Given the description of an element on the screen output the (x, y) to click on. 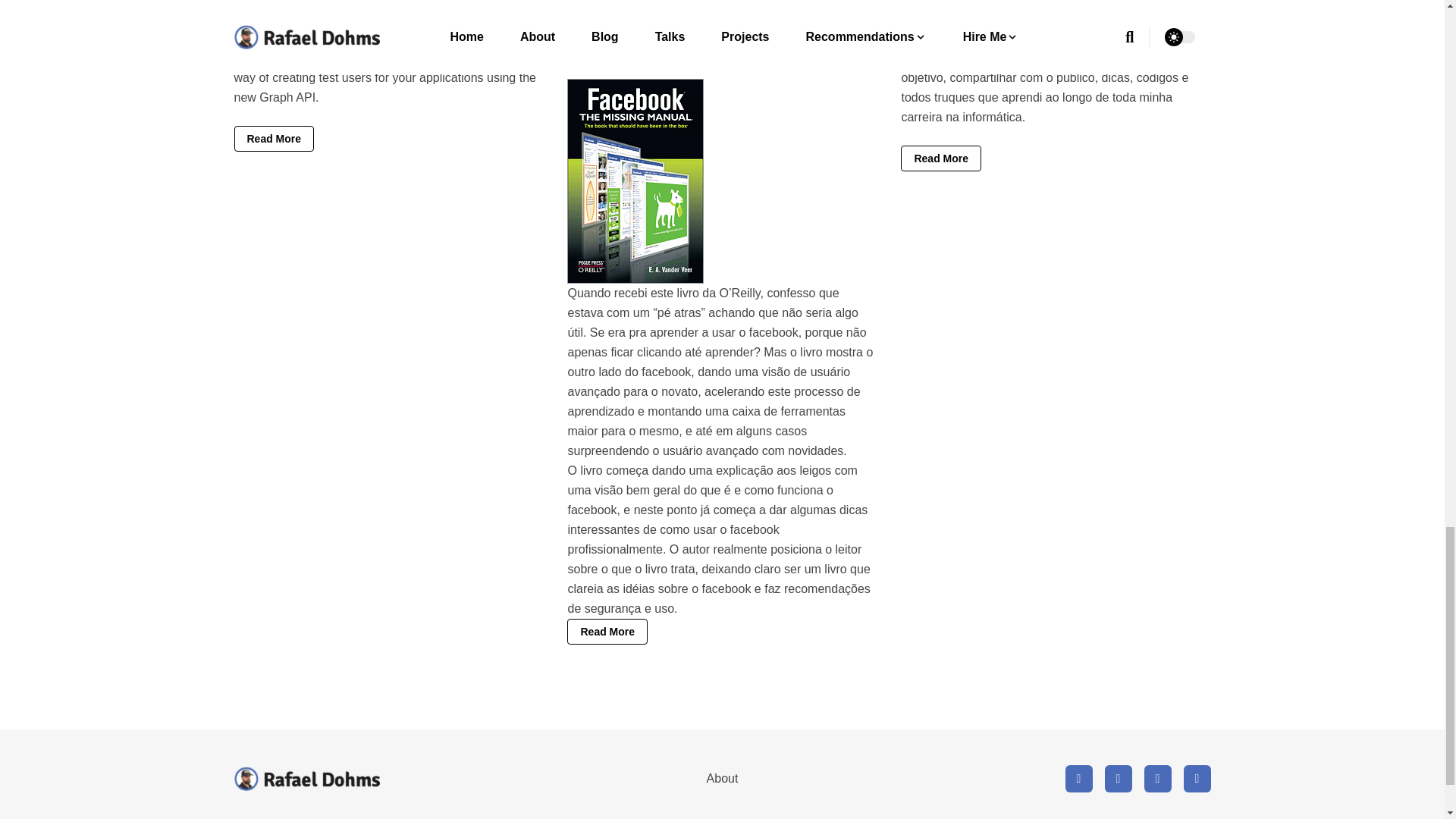
Read More (273, 138)
Read More (607, 631)
About (722, 778)
Reviews (646, 50)
Books, (600, 50)
PHP, (262, 25)
Tools (294, 25)
Read More (941, 158)
